Given the description of an element on the screen output the (x, y) to click on. 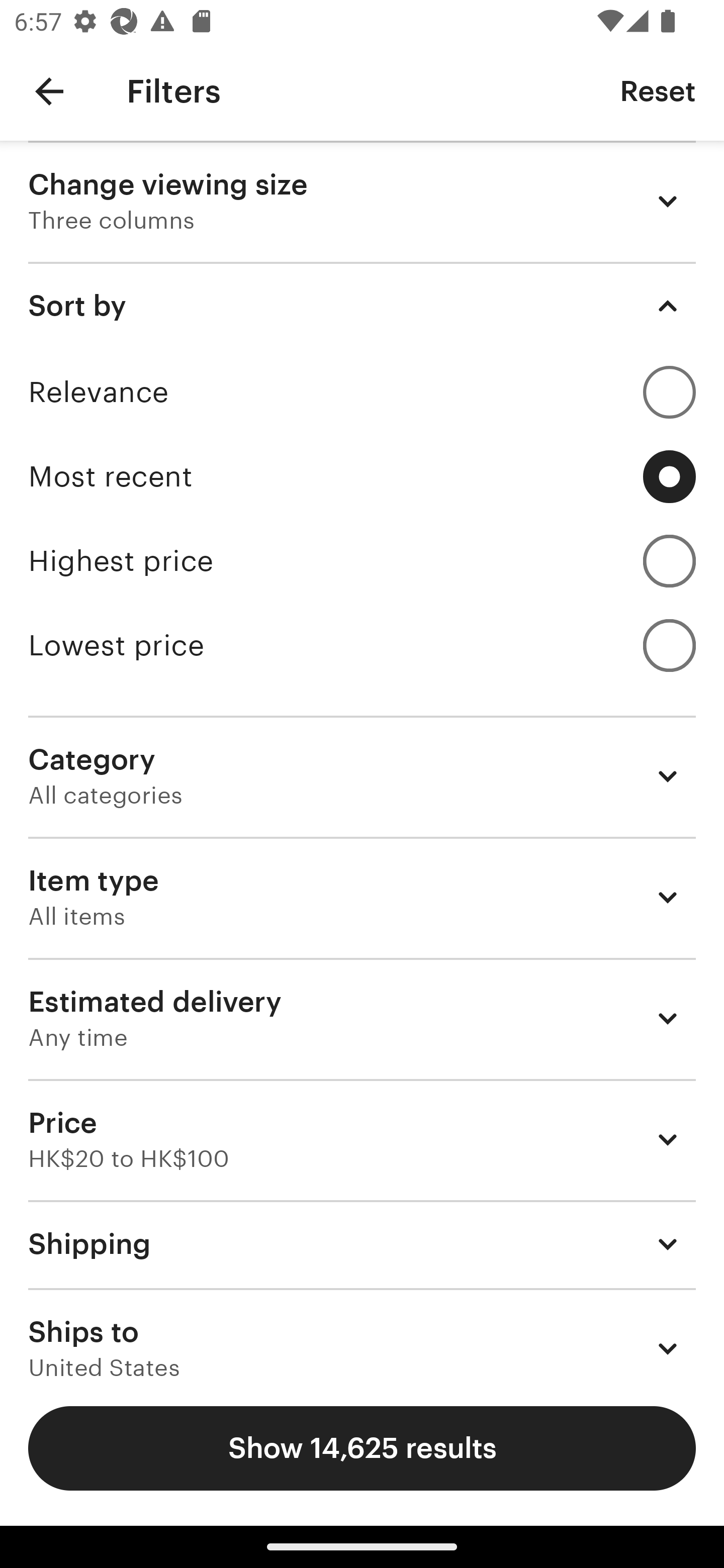
Navigate up (49, 91)
Reset (657, 90)
Change viewing size Three columns (362, 201)
Sort by (362, 305)
Relevance (362, 391)
Most recent (362, 476)
Highest price (362, 561)
Lowest price (362, 644)
Category All categories (362, 776)
Item type All items (362, 897)
Estimated delivery Any time (362, 1018)
Price HK$20 to HK$100 (362, 1138)
Shipping (362, 1243)
Ships to United States (362, 1332)
Show 14,625 results (361, 1448)
